Given the description of an element on the screen output the (x, y) to click on. 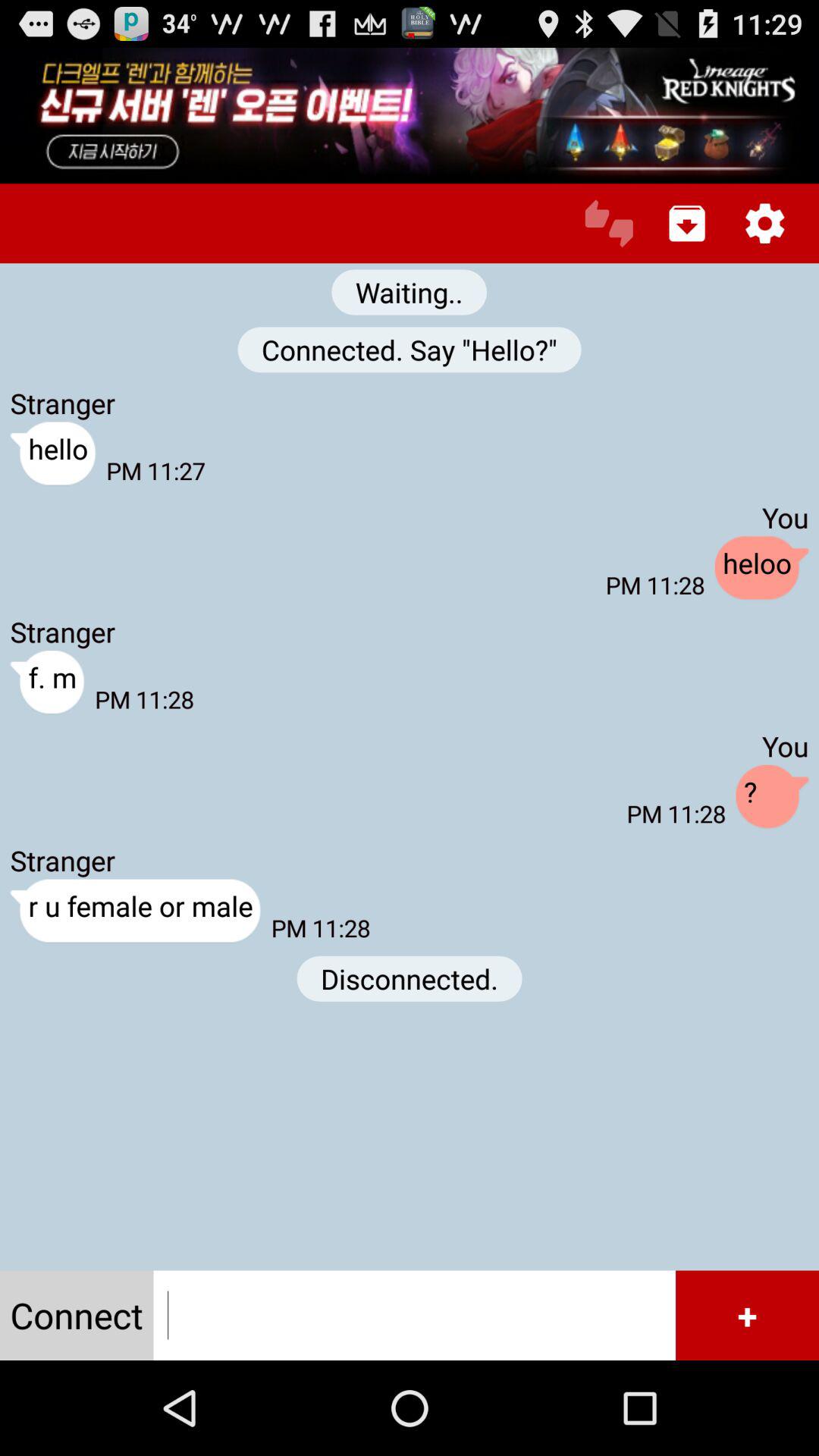
press the button above connect (135, 911)
